Given the description of an element on the screen output the (x, y) to click on. 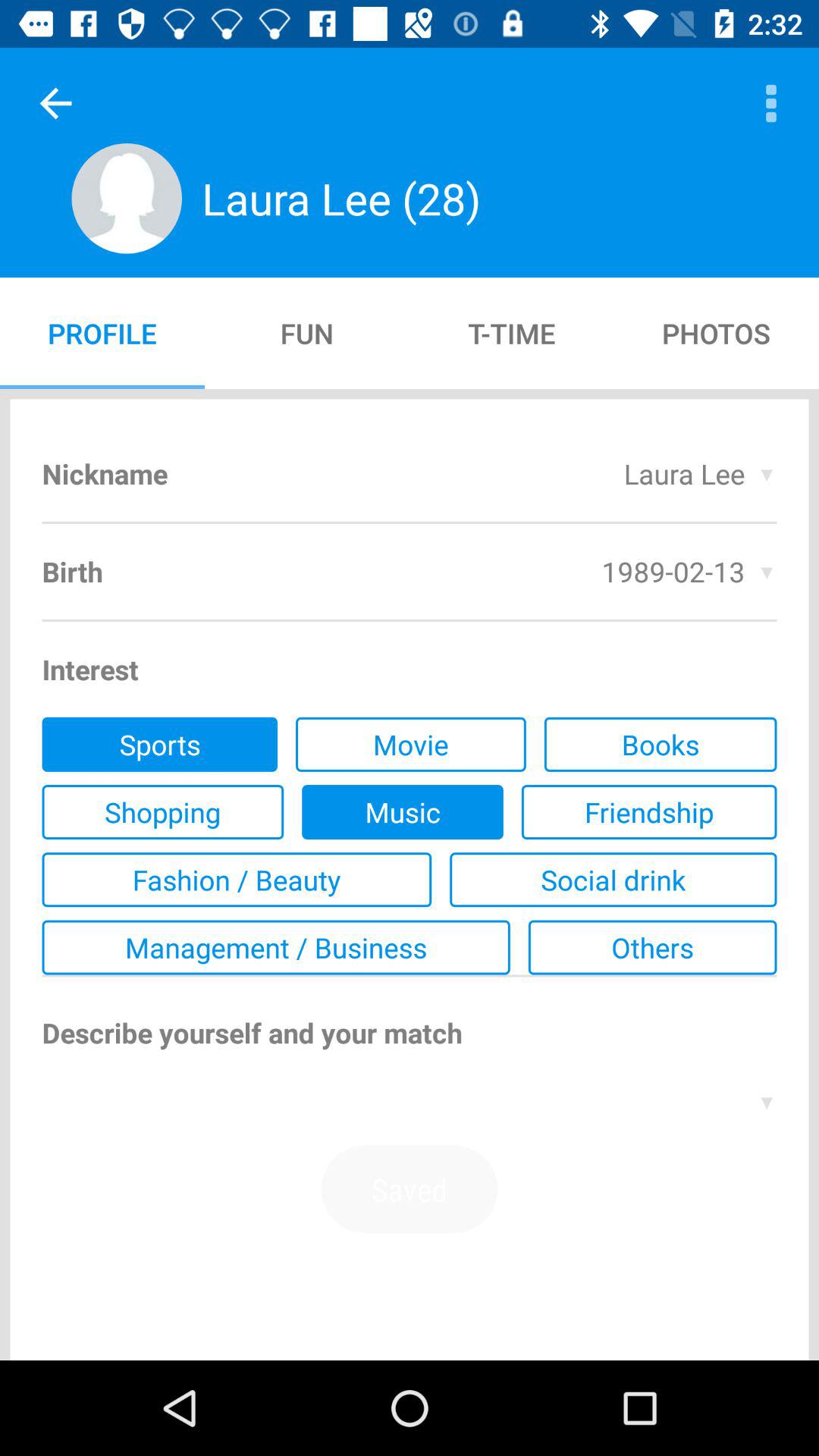
select the item to the right of shopping (402, 811)
